Given the description of an element on the screen output the (x, y) to click on. 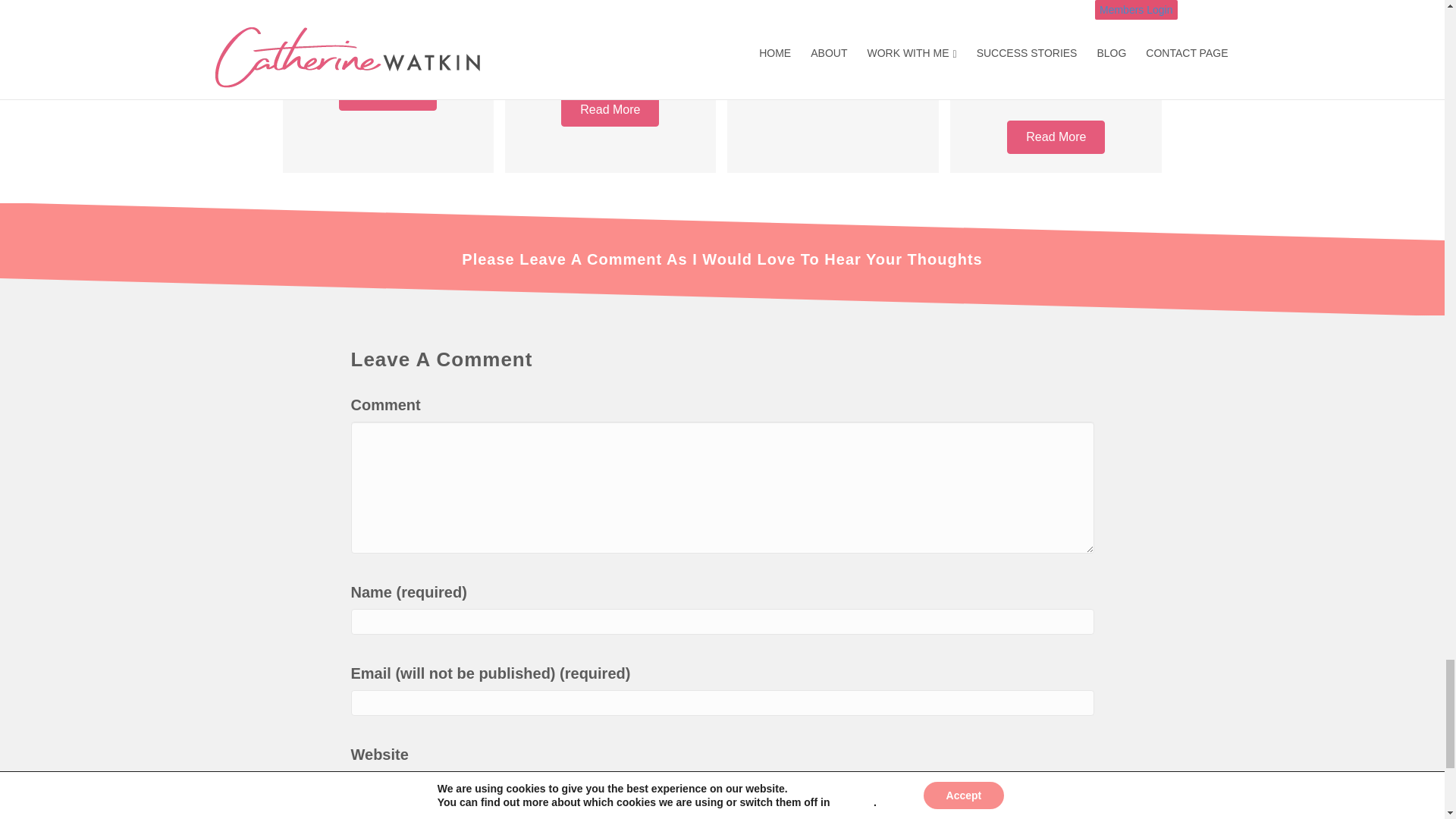
Why Timing Is Everything! (833, 28)
How to Set the Right Price for your Services (387, 38)
Read More (1056, 136)
Read More (609, 109)
Click Here (609, 109)
Click Here (387, 93)
Read More (833, 76)
